Given the description of an element on the screen output the (x, y) to click on. 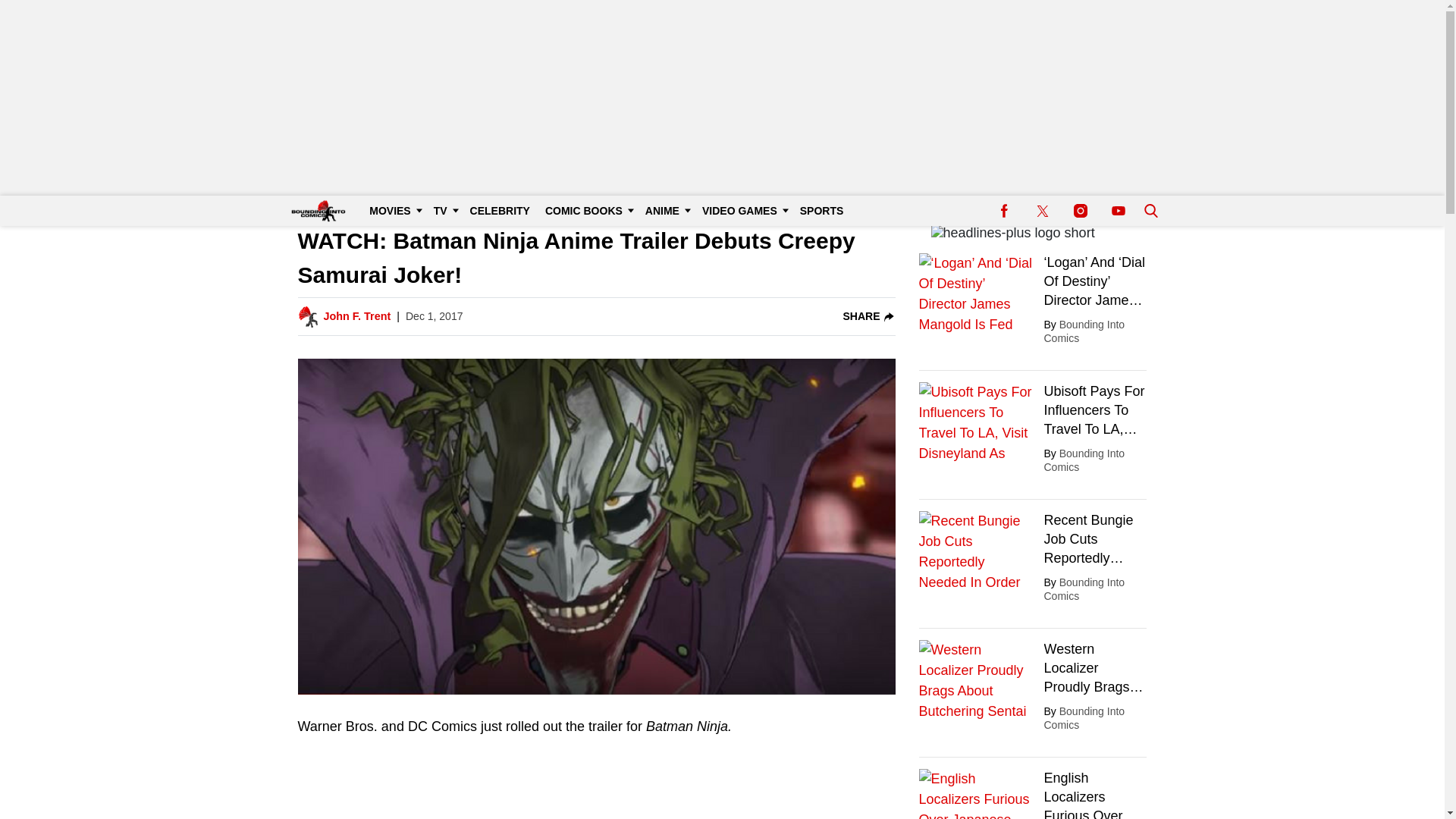
John F. Trent (356, 316)
CELEBRITY (500, 210)
Subscribe to our YouTube channel (1118, 210)
Follow us on Facebook (1004, 210)
VIDEO GAMES (743, 210)
SPORTS (821, 210)
Follow us on Twitter (1042, 210)
MOVIES (393, 210)
COMIC BOOKS (587, 210)
ANIME (665, 210)
Follow us on Instagram (1080, 210)
TV (444, 210)
Posts by John F. Trent (356, 316)
